Given the description of an element on the screen output the (x, y) to click on. 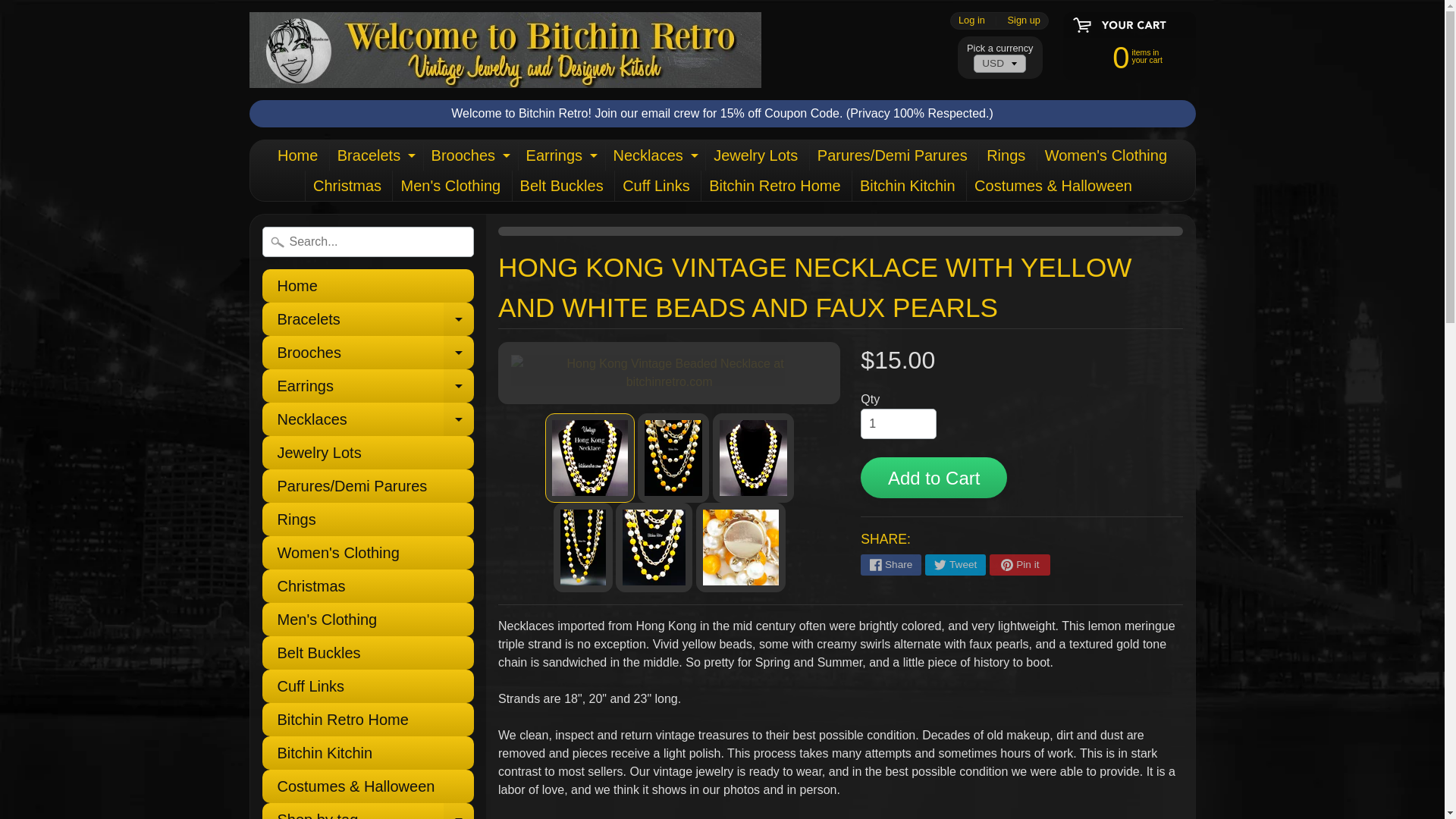
1 (653, 155)
Home (898, 423)
Sign up (296, 155)
Share on Facebook (1024, 20)
Tweet on Twitter (374, 155)
